Given the description of an element on the screen output the (x, y) to click on. 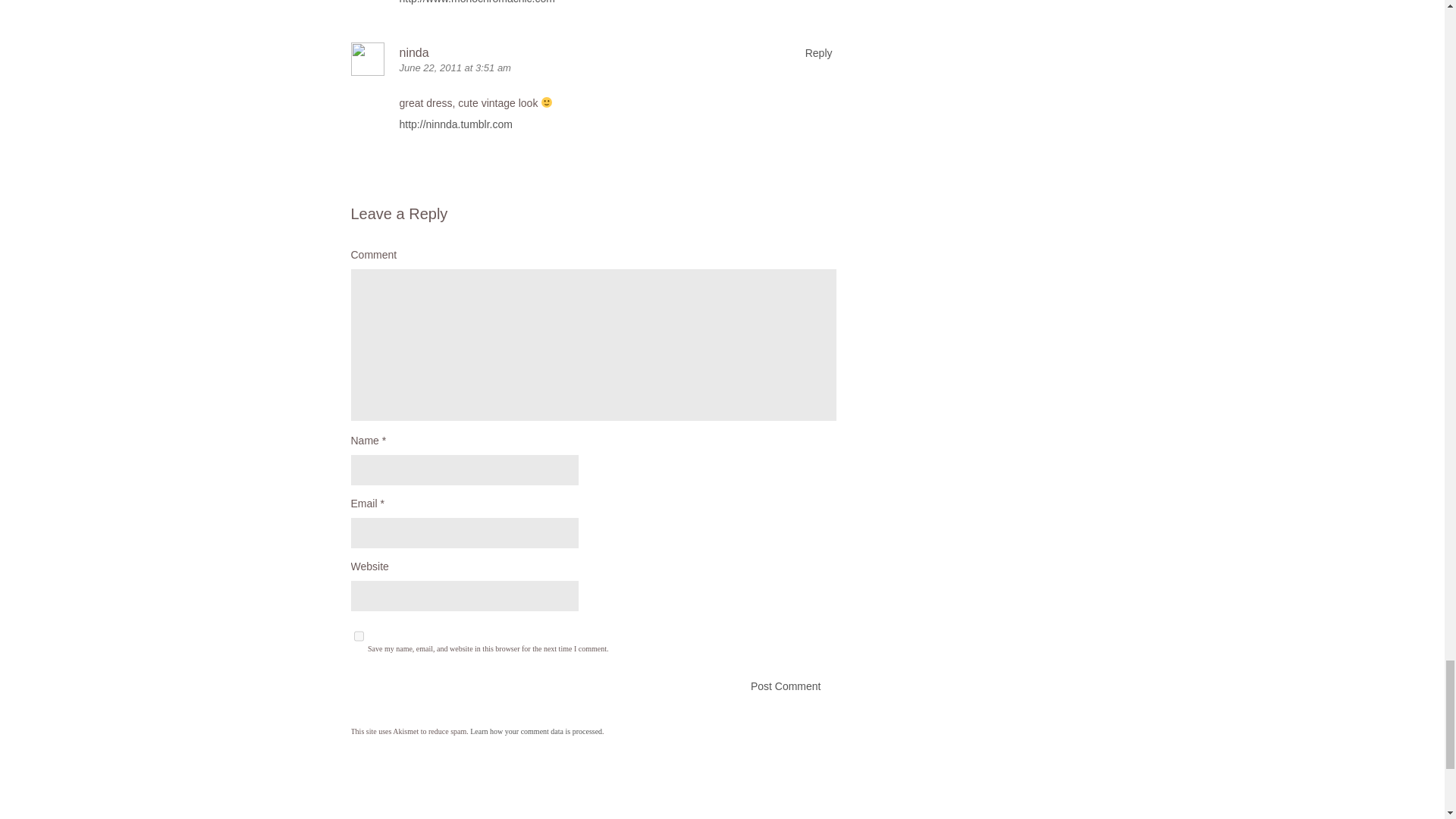
Post Comment (592, 685)
yes (357, 635)
